Given the description of an element on the screen output the (x, y) to click on. 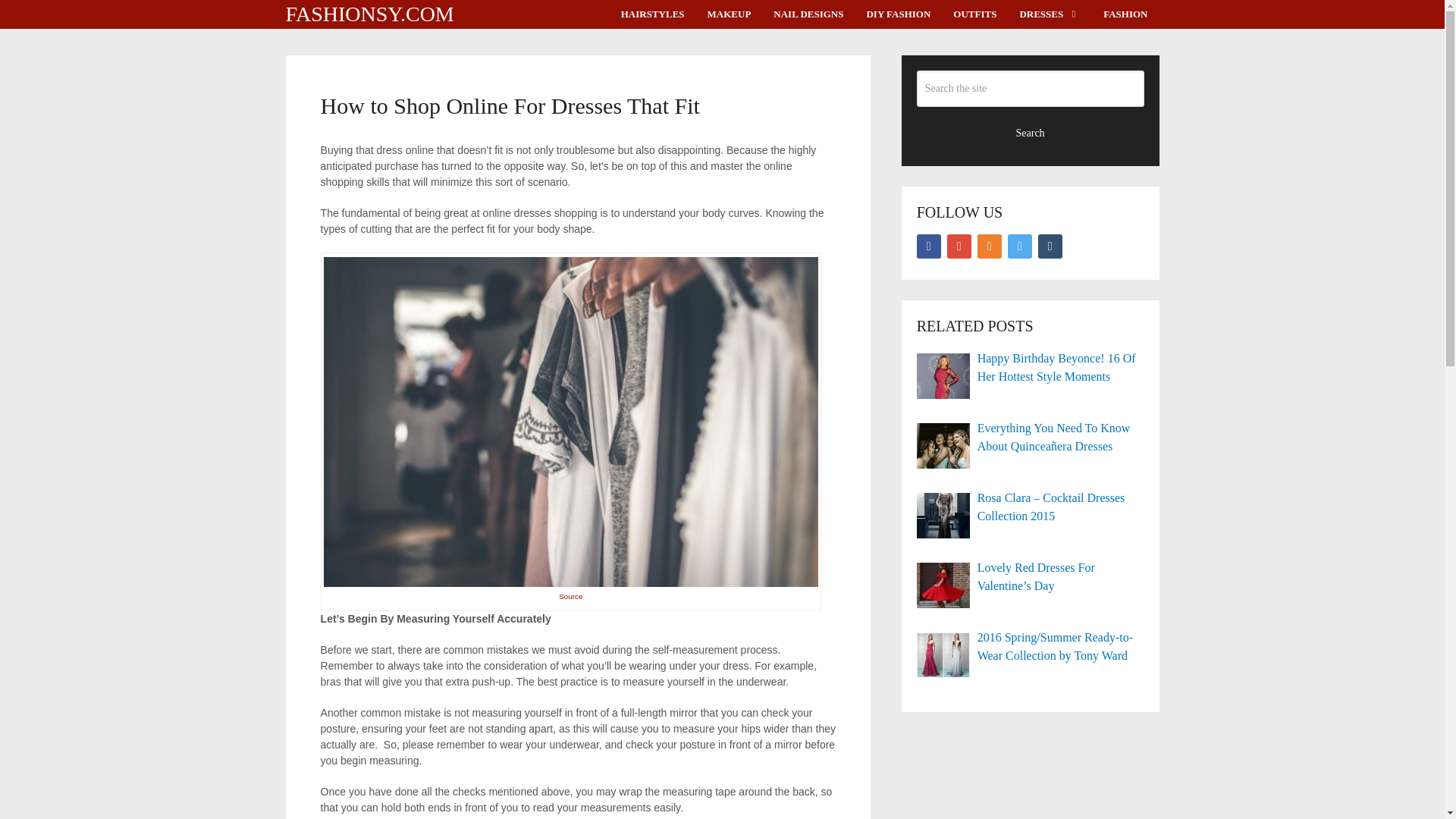
MAKEUP (728, 14)
Facebook (928, 246)
DIY FASHION (898, 14)
Happy Birthday Beyonce! 16 Of Her Hottest Style Moments (1030, 367)
NAIL DESIGNS (807, 14)
Search (1030, 132)
Tumblr (1050, 246)
FASHIONSY.COM (368, 14)
HAIRSTYLES (652, 14)
OUTFITS (974, 14)
Search (1030, 132)
RSS (988, 246)
Source (570, 596)
FASHION (1125, 14)
